Given the description of an element on the screen output the (x, y) to click on. 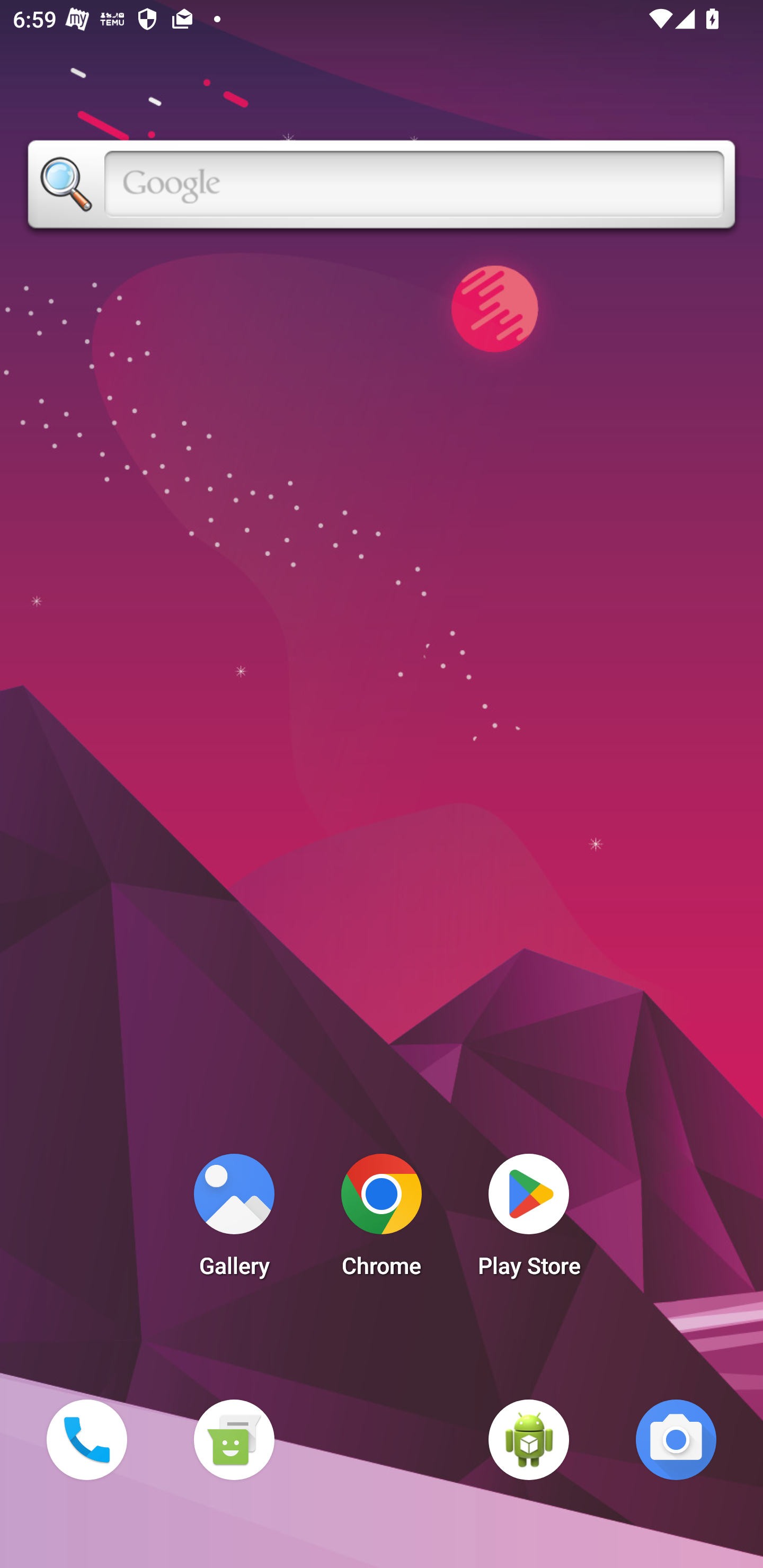
Gallery (233, 1220)
Chrome (381, 1220)
Play Store (528, 1220)
Phone (86, 1439)
Messaging (233, 1439)
WebView Browser Tester (528, 1439)
Camera (676, 1439)
